Given the description of an element on the screen output the (x, y) to click on. 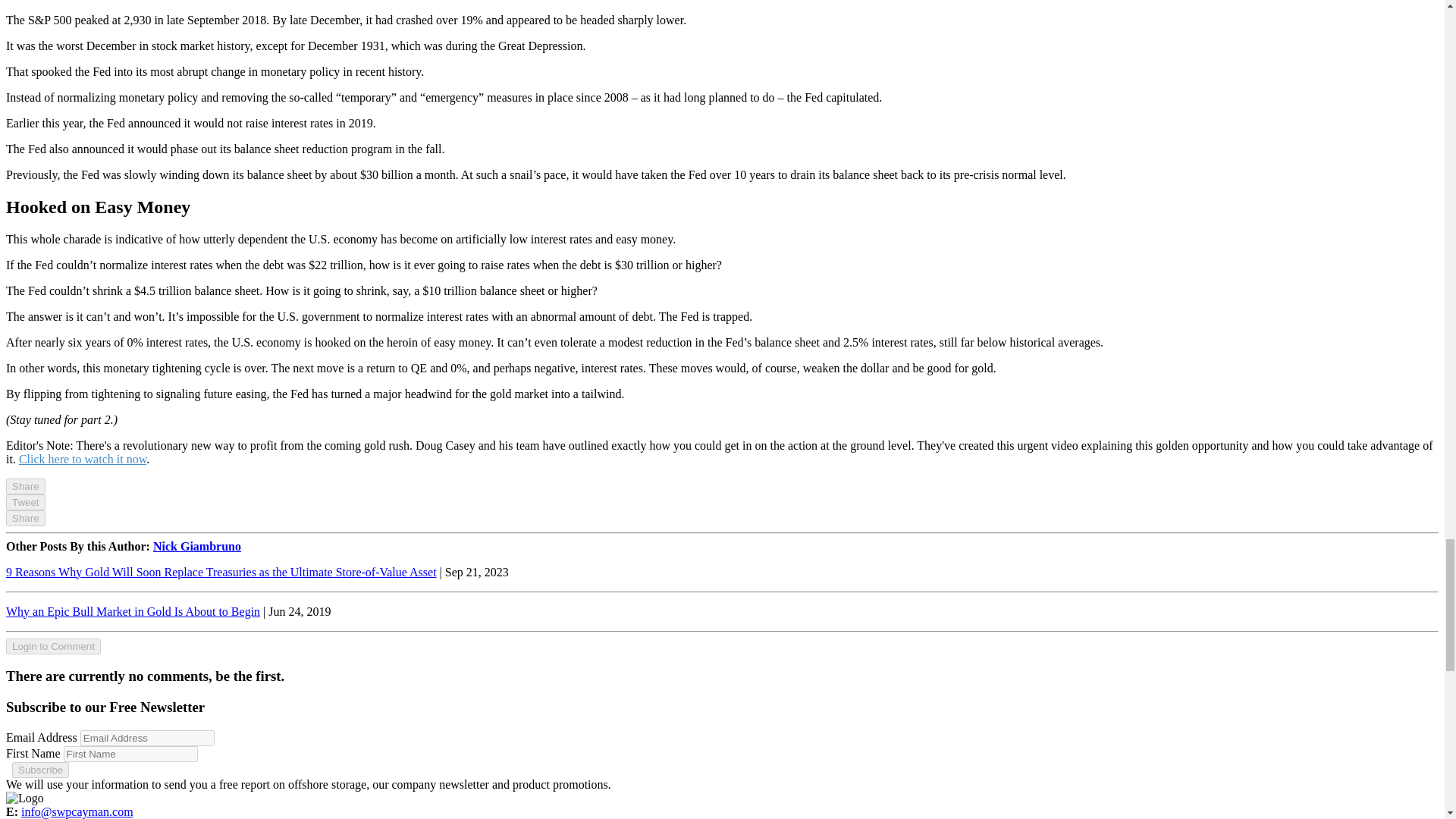
Share (25, 518)
Subscribe (39, 770)
Tweet (25, 502)
Share (25, 486)
Why an Epic Bull Market in Gold Is About to Begin (132, 611)
Nick Giambruno (196, 545)
Click here to watch it now (82, 459)
Login to Comment (52, 646)
